Given the description of an element on the screen output the (x, y) to click on. 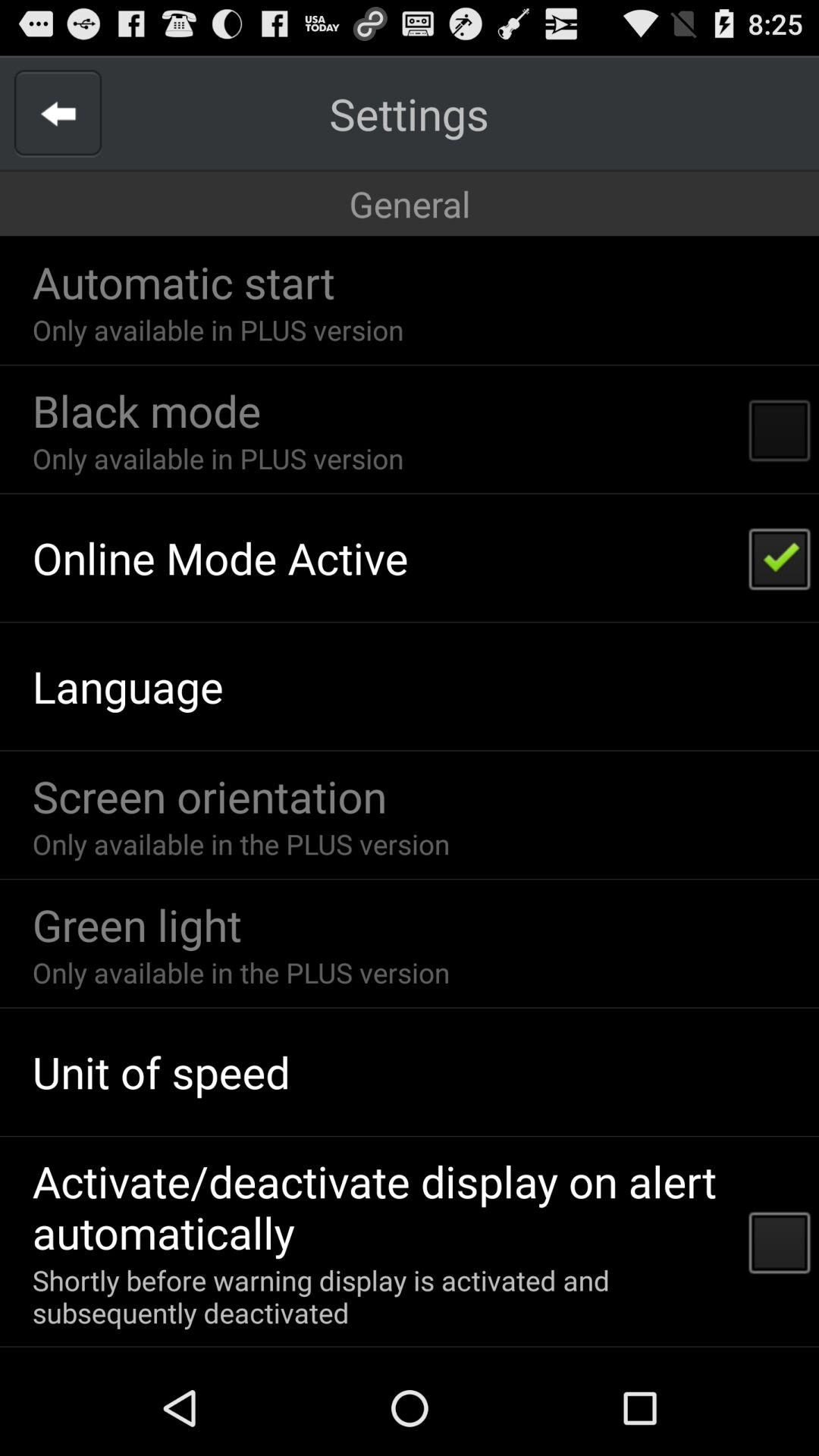
flip to the online mode active (220, 557)
